Given the description of an element on the screen output the (x, y) to click on. 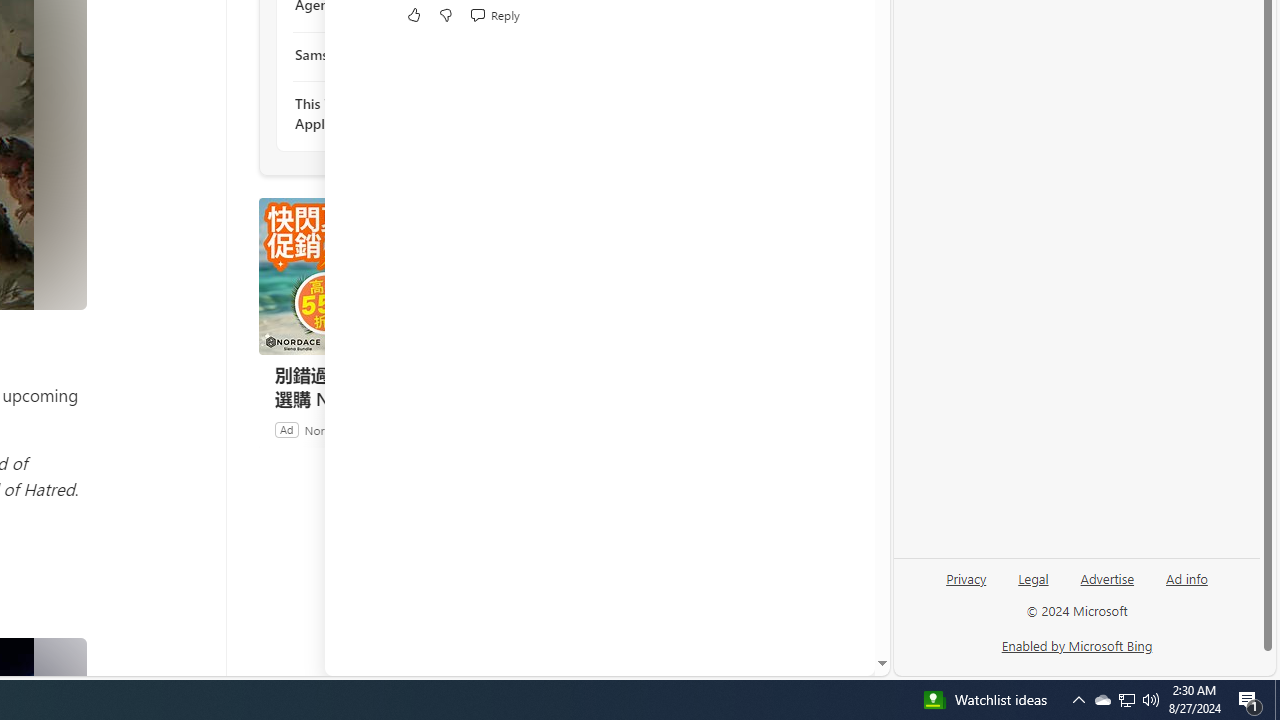
Legal (1033, 586)
Legal (1033, 577)
Samsung Galaxy Watch 7 Review (403, 53)
Ad Choice (535, 429)
Reply Reply Comment (494, 14)
Like (414, 14)
